Given the description of an element on the screen output the (x, y) to click on. 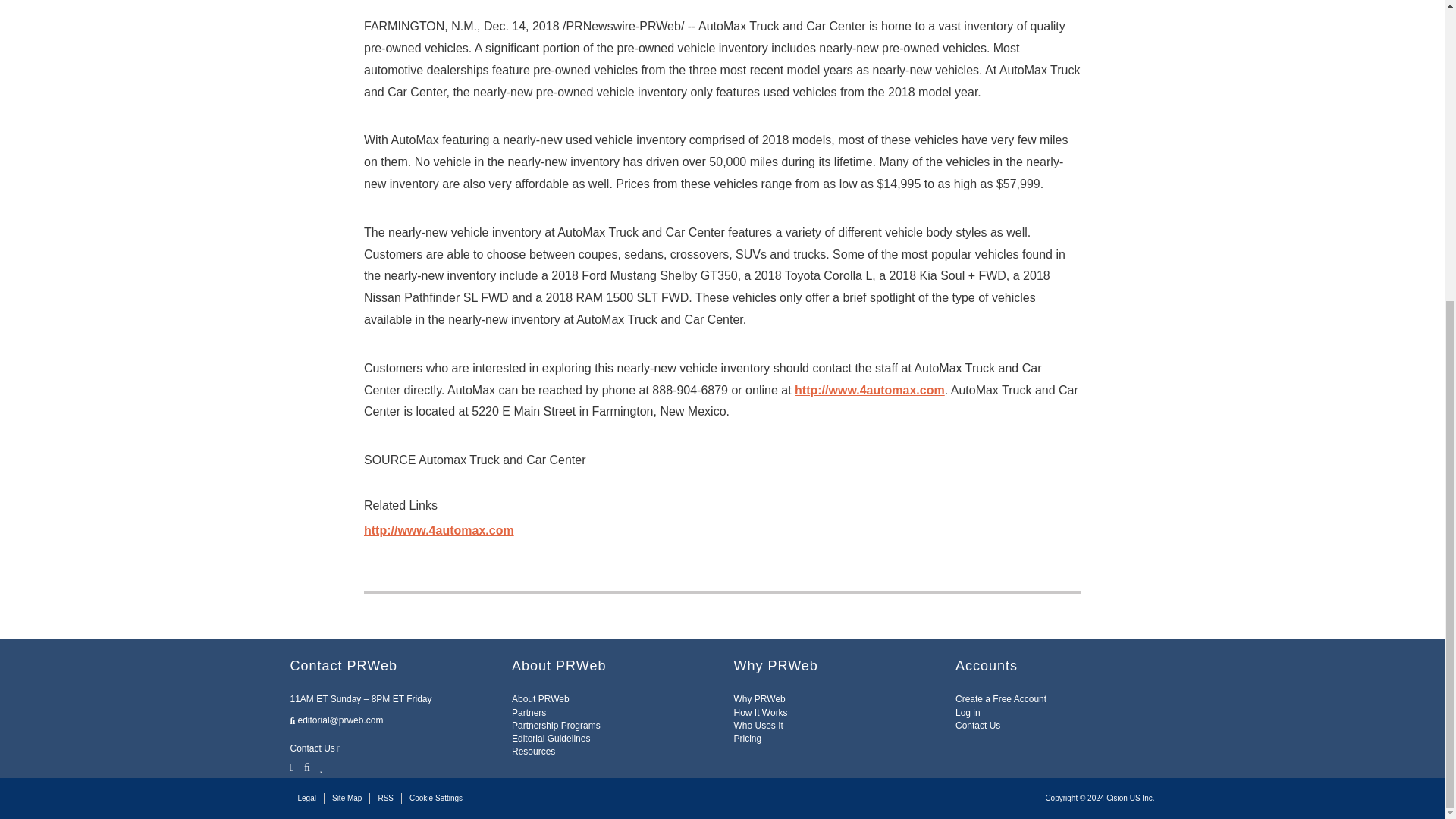
Why PRWeb (759, 698)
Partners (529, 712)
Partnership Programs (555, 725)
Editorial Guidelines (550, 738)
Facebook (306, 766)
Resources (533, 751)
About PRWeb (540, 698)
